Given the description of an element on the screen output the (x, y) to click on. 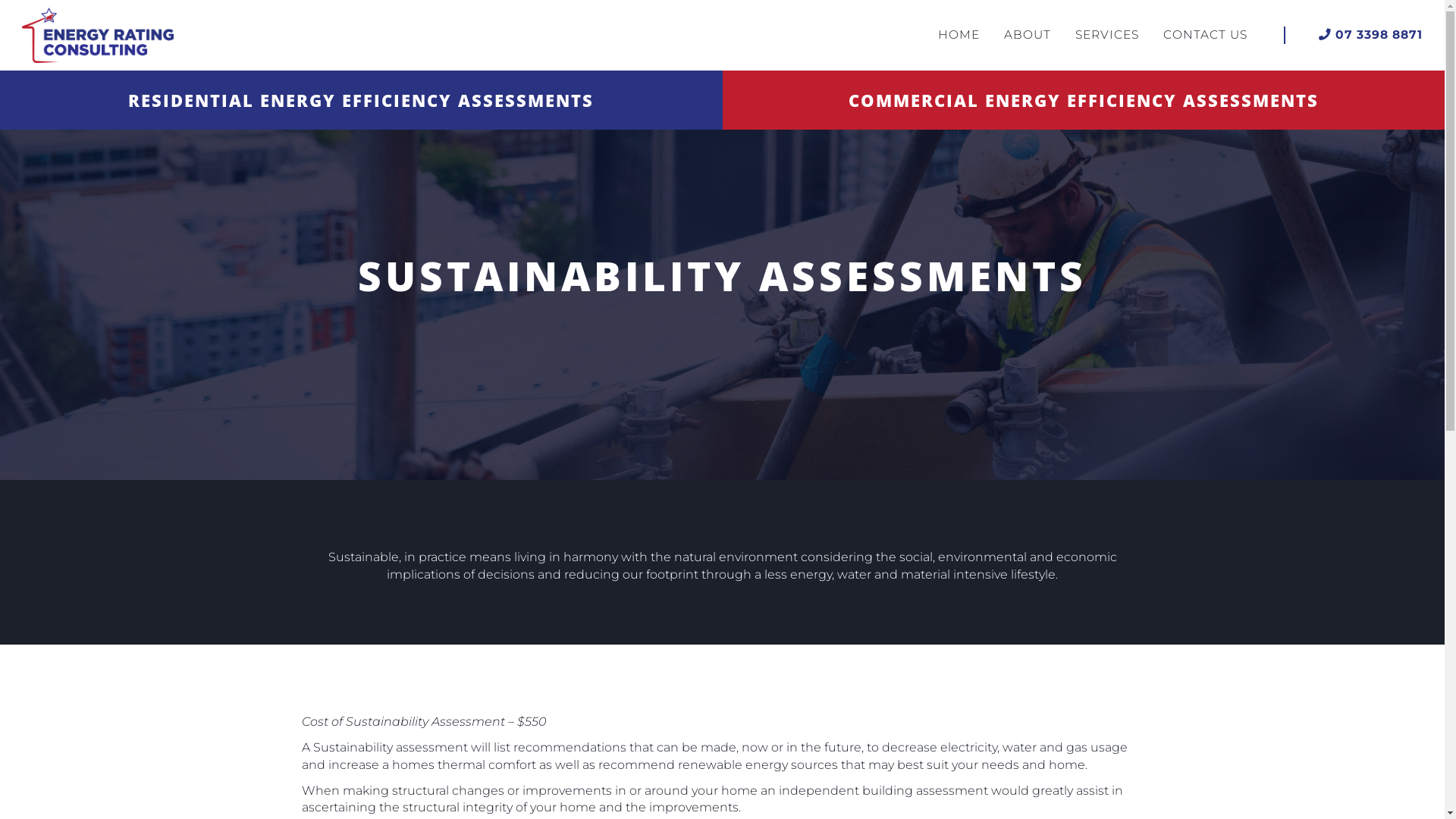
HOME Element type: text (958, 34)
07 3398 8871 Element type: text (1370, 34)
COMMERCIAL ENERGY EFFICIENCY ASSESSMENTS Element type: text (1082, 99)
RESIDENTIAL ENERGY EFFICIENCY ASSESSMENTS Element type: text (361, 99)
CONTACT US Element type: text (1205, 34)
ABOUT Element type: text (1027, 34)
SERVICES Element type: text (1106, 34)
